Given the description of an element on the screen output the (x, y) to click on. 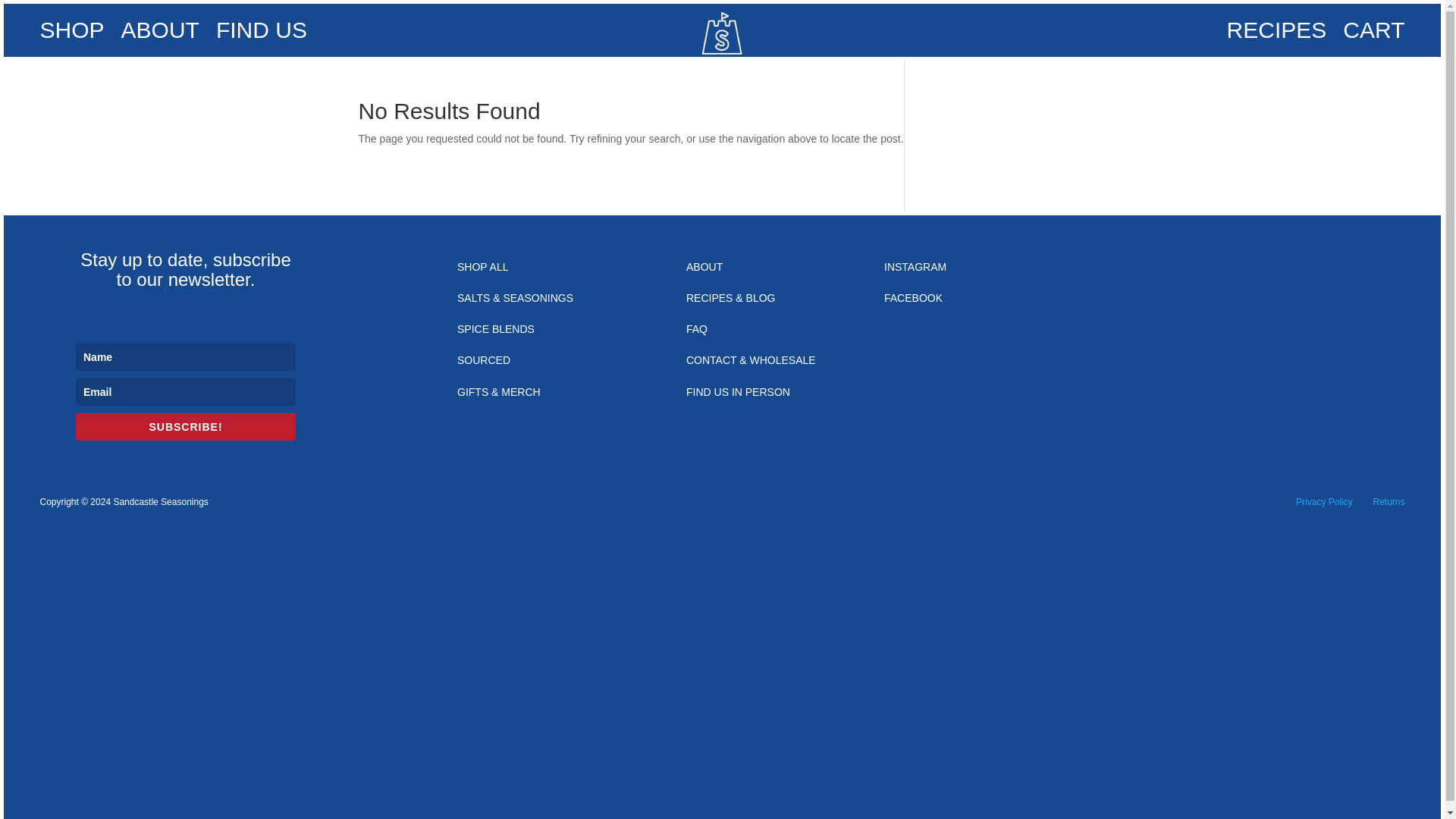
ABOUT (159, 33)
Small Castle White-01 (721, 33)
SHOP (71, 33)
FIND US (261, 33)
SHOP ALL (482, 269)
SUBSCRIBE! (185, 426)
CART (1373, 33)
RECIPES (1276, 33)
